Given the description of an element on the screen output the (x, y) to click on. 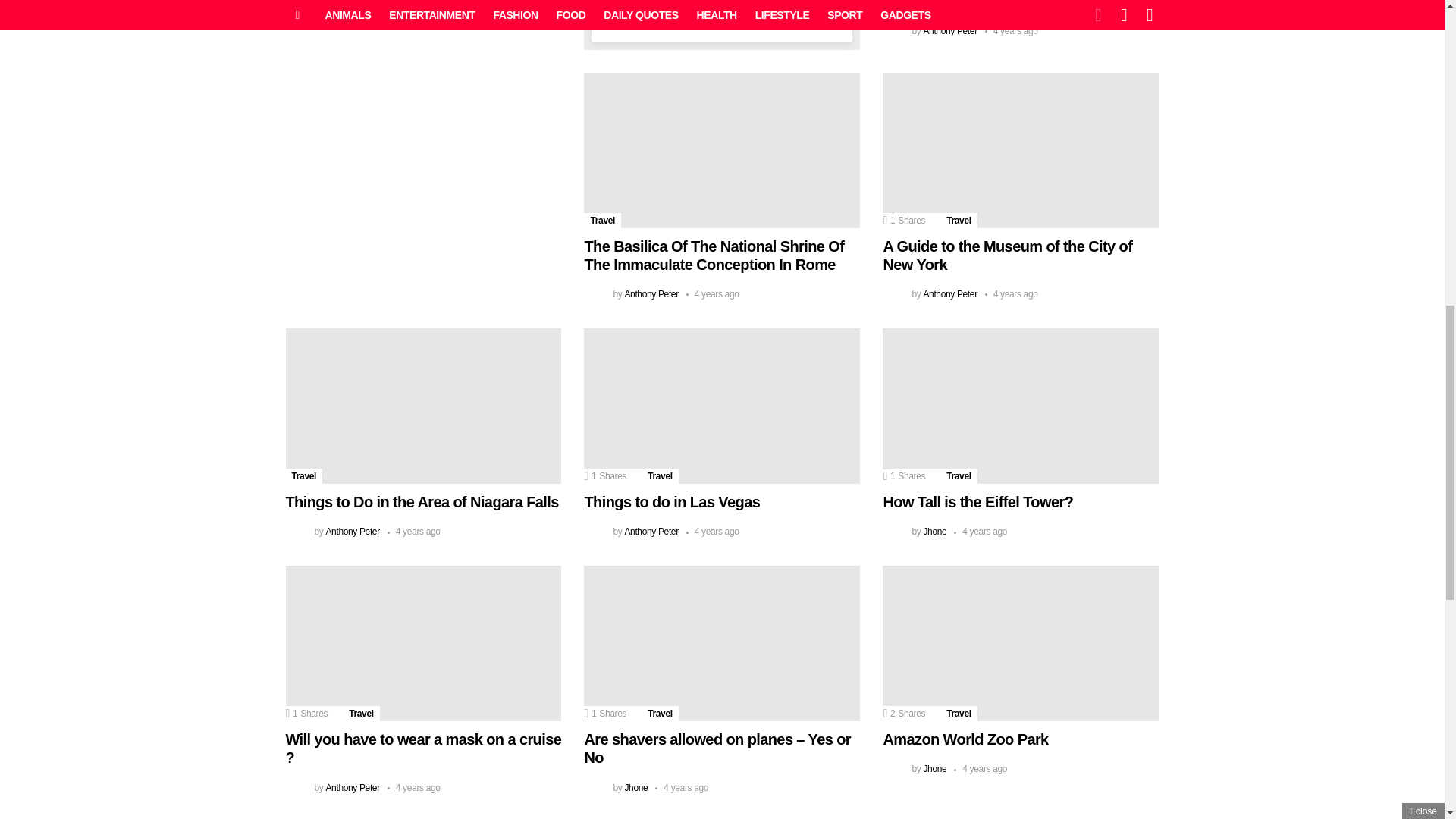
Posts by Anthony Peter (949, 294)
Posts by Anthony Peter (351, 12)
January 8, 2021, 7:13 am (712, 294)
A Guide to the Museum of the City of New York (1020, 150)
January 4, 2021, 11:21 am (1011, 294)
January 13, 2021, 6:36 am (1011, 30)
January 18, 2021, 11:15 am (414, 12)
Posts by Anthony Peter (651, 294)
Sign up (722, 2)
